Given the description of an element on the screen output the (x, y) to click on. 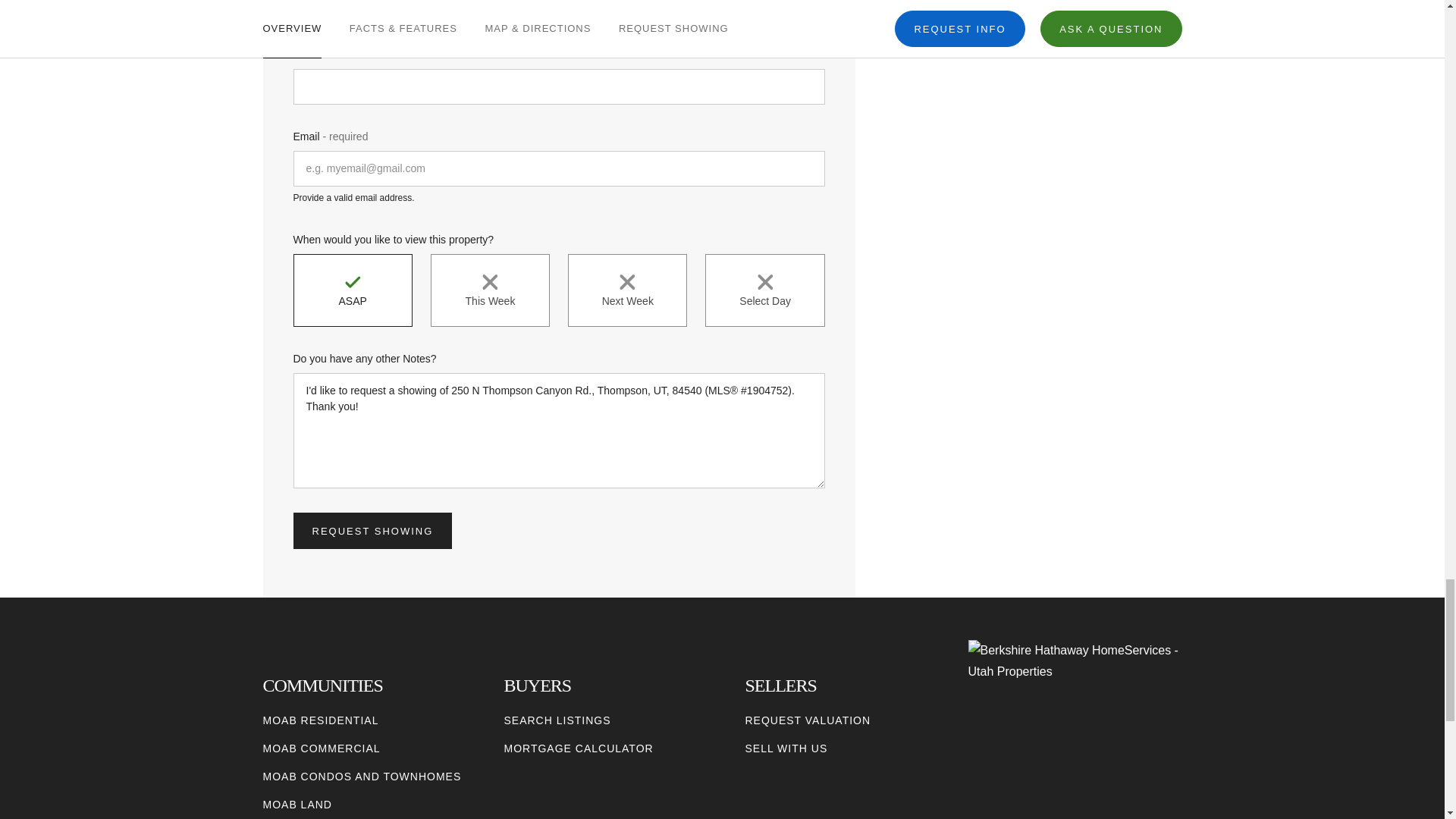
Next Week (627, 289)
This Week (490, 289)
ASAP (352, 289)
